Given the description of an element on the screen output the (x, y) to click on. 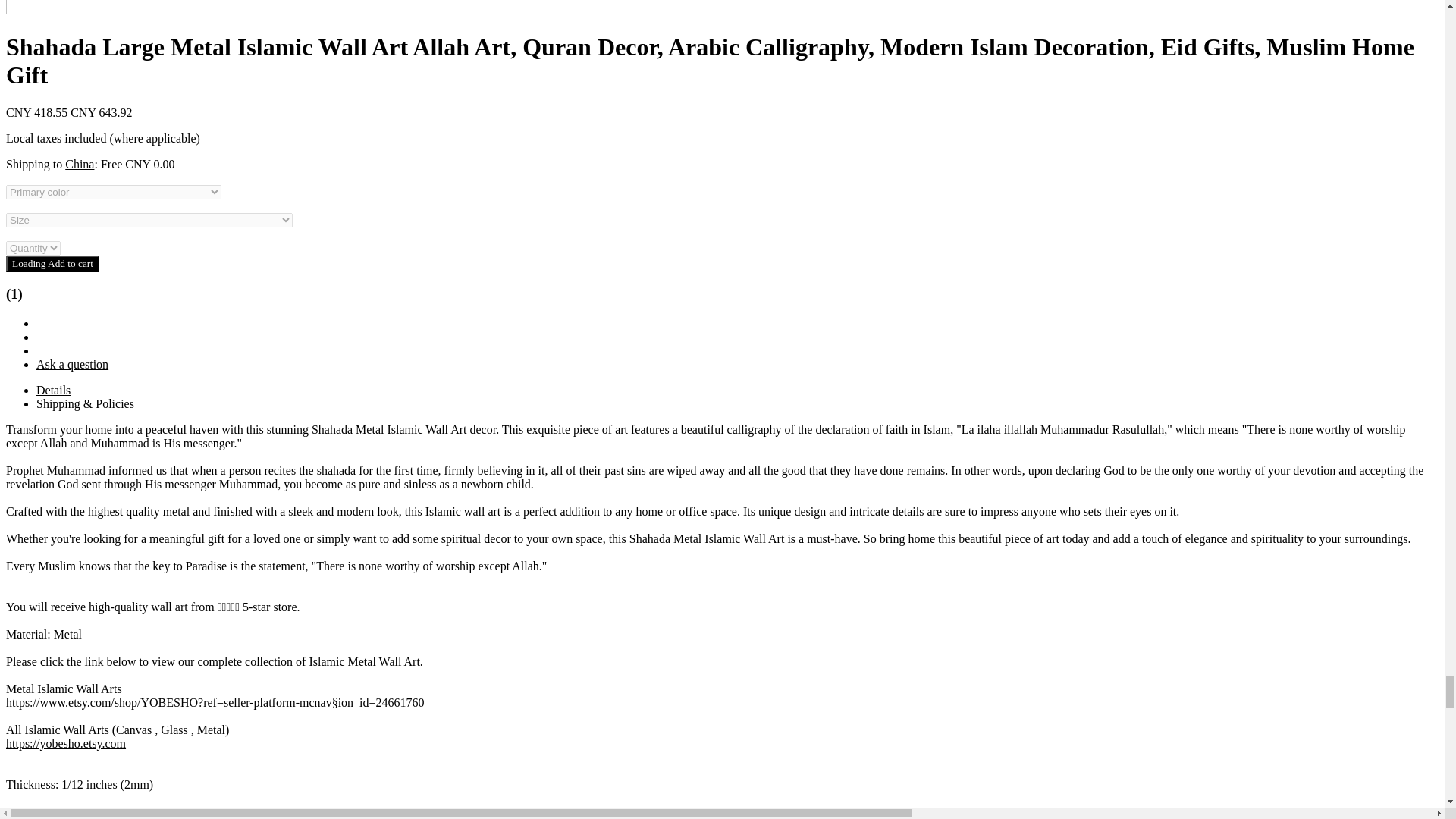
Ask a question (71, 364)
China (79, 164)
Loading Add to cart (52, 263)
Details (52, 390)
